Given the description of an element on the screen output the (x, y) to click on. 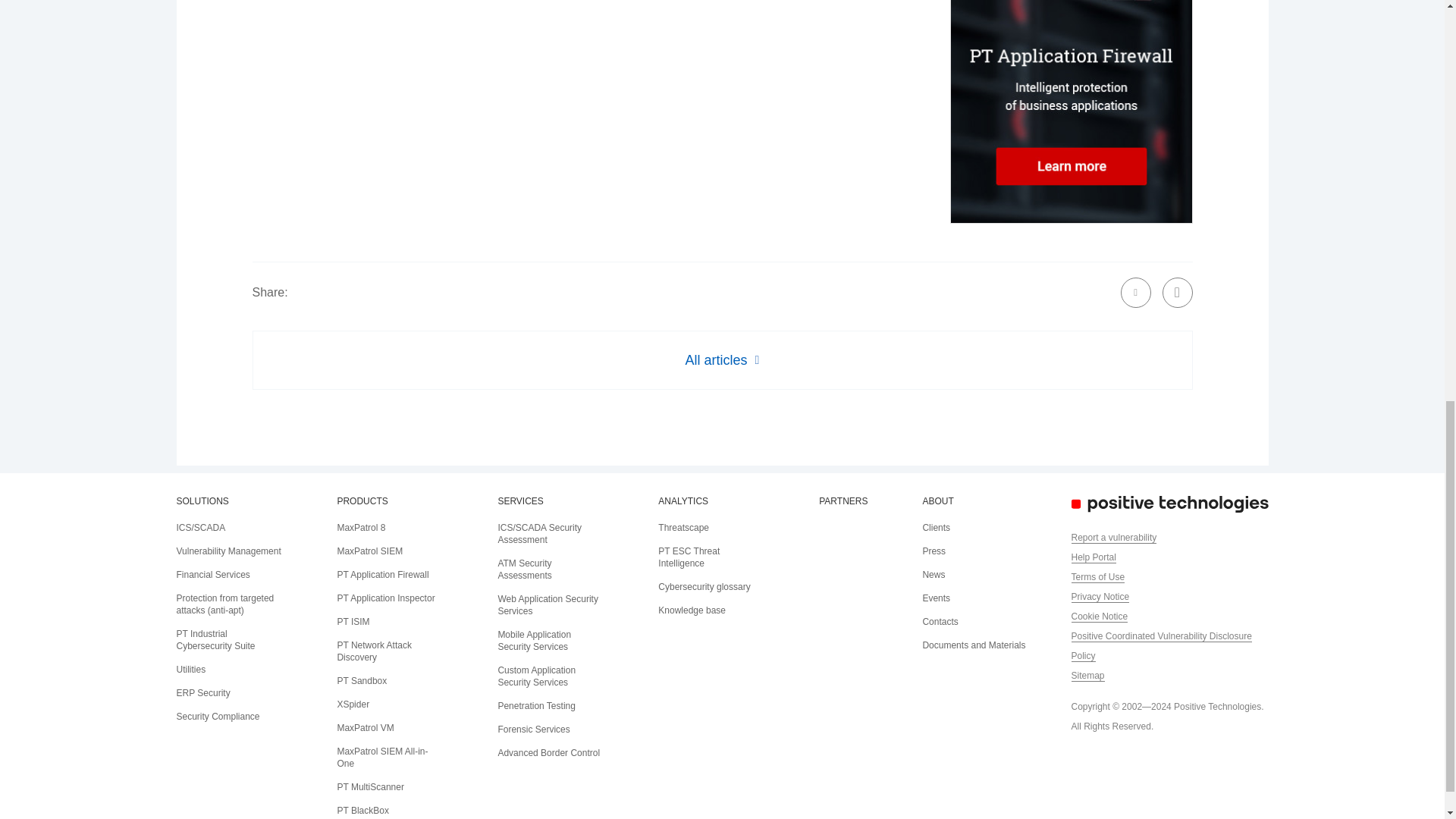
MaxPatrol 8 (360, 527)
MaxPatrol SIEM All-in-One (382, 757)
PT Network Attack Discovery (373, 650)
PT ISIM (352, 621)
Security Compliance (217, 716)
Mobile Application Security Services (533, 640)
Financial Services (212, 574)
Penetration Testing (536, 706)
MaxPatrol SIEM (369, 551)
PT Industrial Cybersecurity Suite (215, 639)
